Given the description of an element on the screen output the (x, y) to click on. 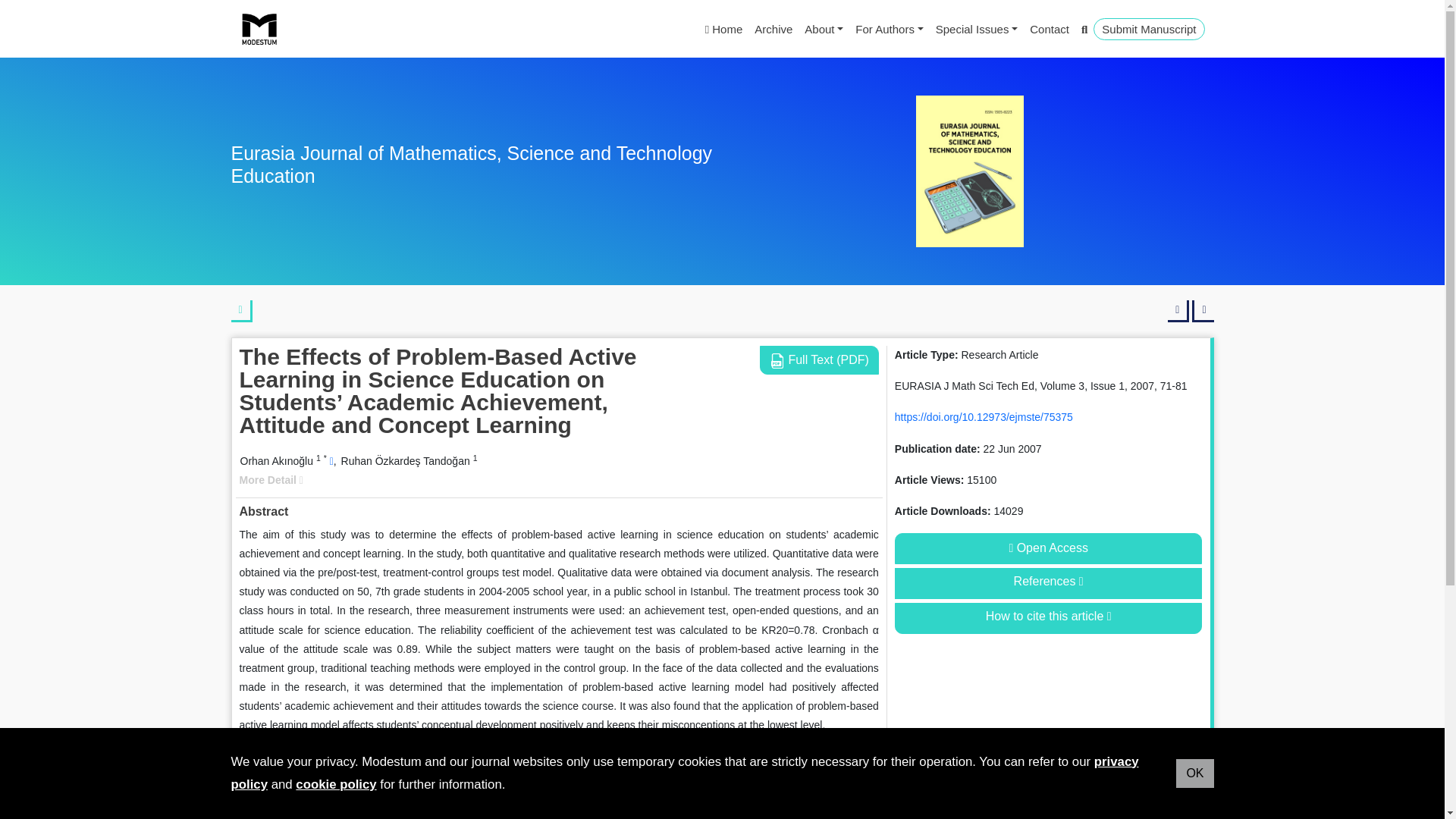
Home (723, 28)
Special Issues (977, 28)
Submit Manuscript (1148, 29)
Archive (772, 28)
Next article (1202, 311)
science (355, 779)
Back to article list (240, 311)
For Authors (888, 28)
Problem-based learning (493, 779)
Previous article (1178, 311)
